Given the description of an element on the screen output the (x, y) to click on. 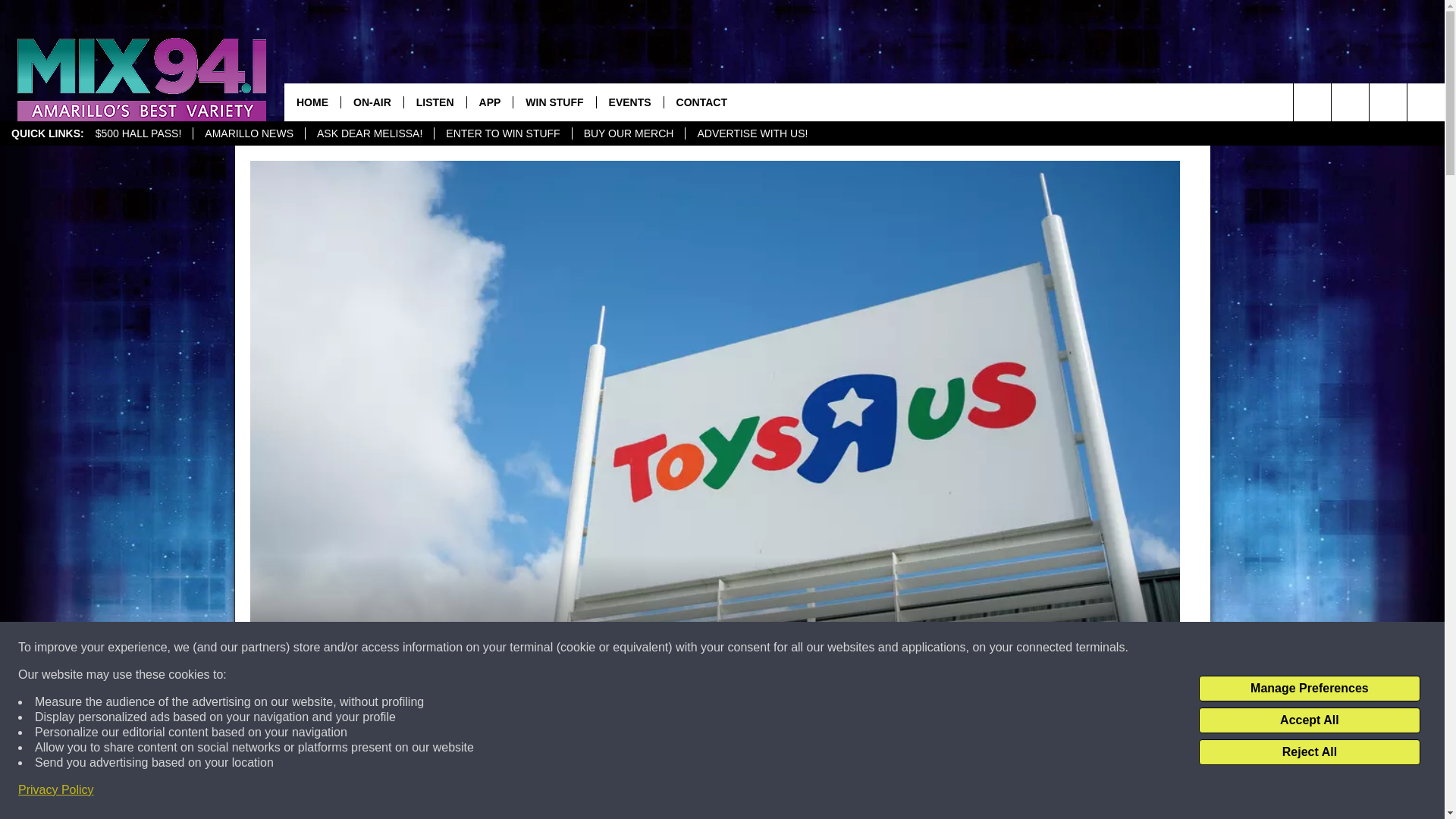
APP (489, 102)
HOME (311, 102)
Accept All (1309, 720)
Reject All (1309, 751)
Privacy Policy (55, 789)
EVENTS (629, 102)
AMARILLO NEWS (248, 133)
ADVERTISE WITH US! (751, 133)
WIN STUFF (553, 102)
BUY OUR MERCH (628, 133)
ON-AIR (371, 102)
LISTEN (434, 102)
Share on Facebook (517, 791)
ASK DEAR MELISSA! (368, 133)
ENTER TO WIN STUFF (501, 133)
